Given the description of an element on the screen output the (x, y) to click on. 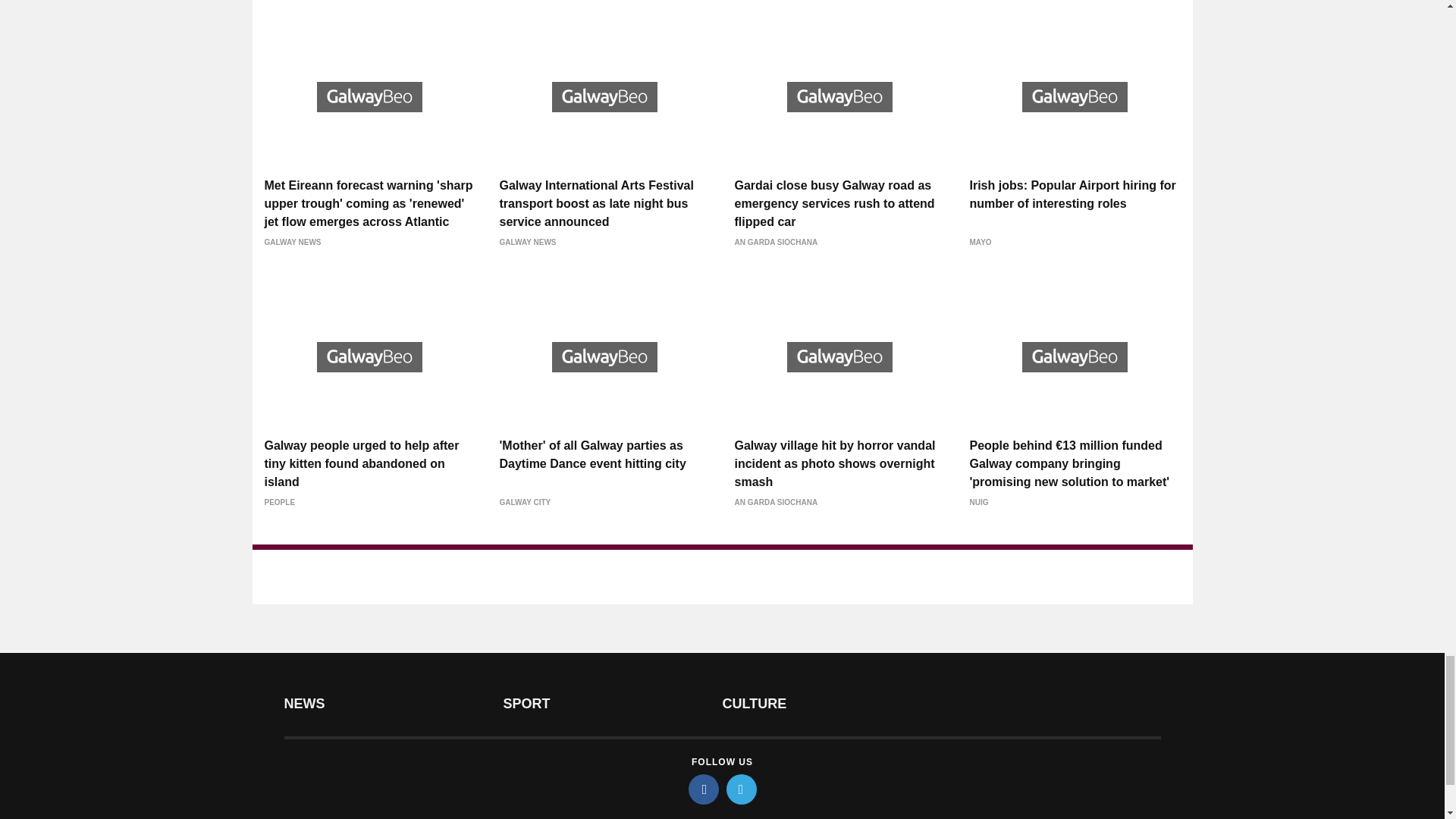
twitter (741, 788)
facebook (703, 788)
